Given the description of an element on the screen output the (x, y) to click on. 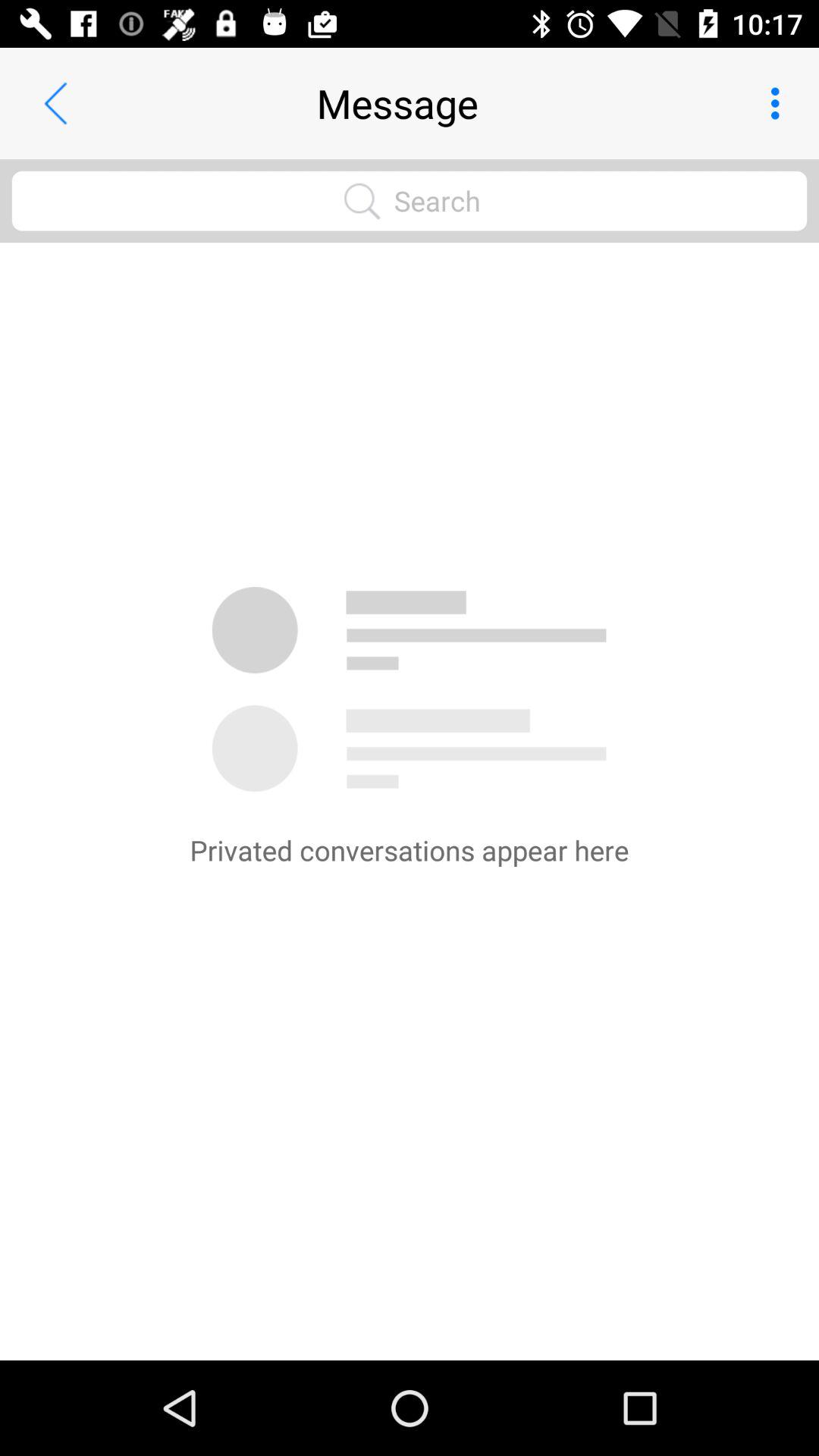
click icon next to the message app (779, 103)
